Given the description of an element on the screen output the (x, y) to click on. 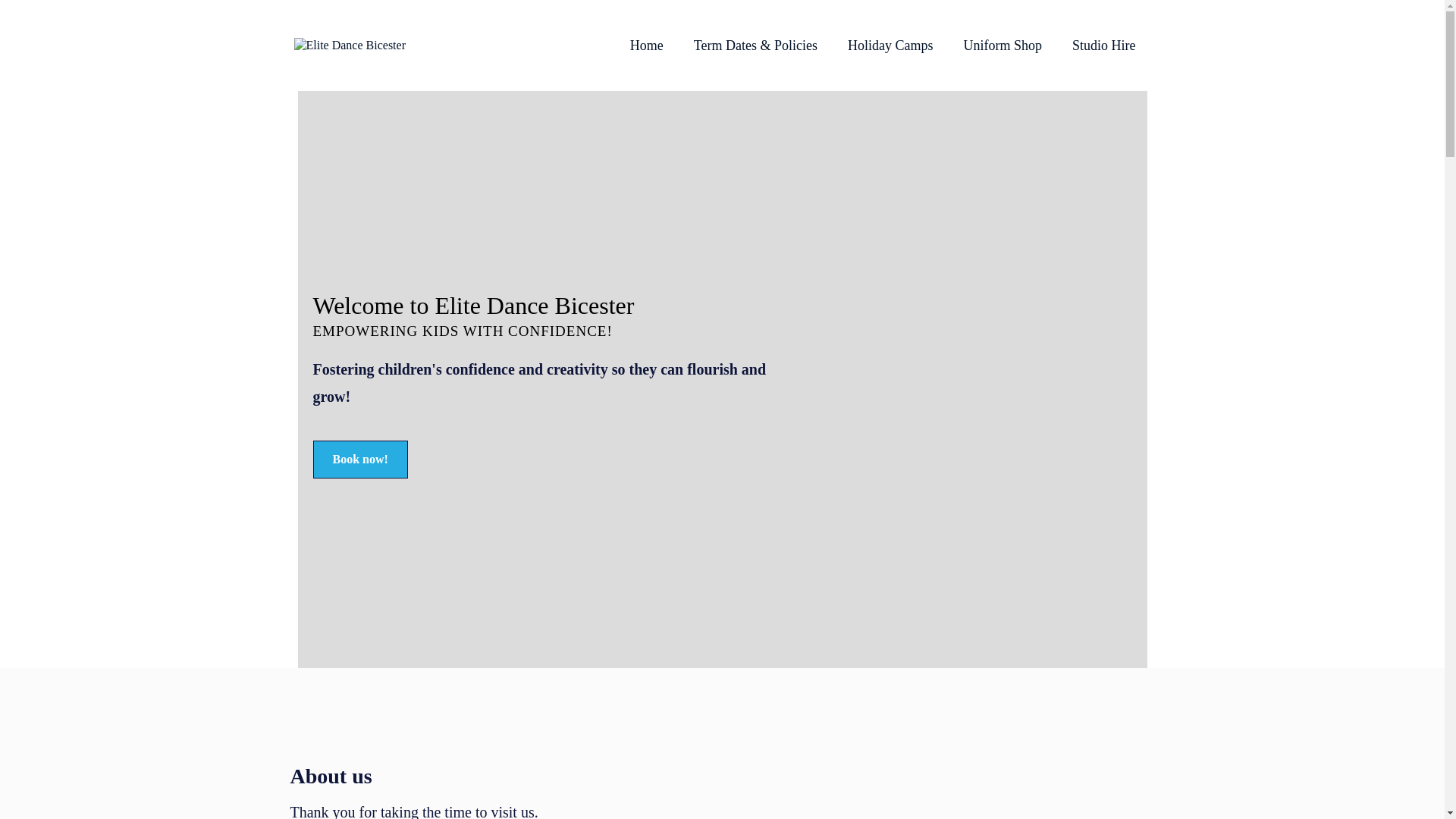
Holiday Camps (890, 45)
Studio Hire (1104, 45)
Uniform Shop (1002, 45)
Home (646, 45)
Book now! (360, 459)
